Given the description of an element on the screen output the (x, y) to click on. 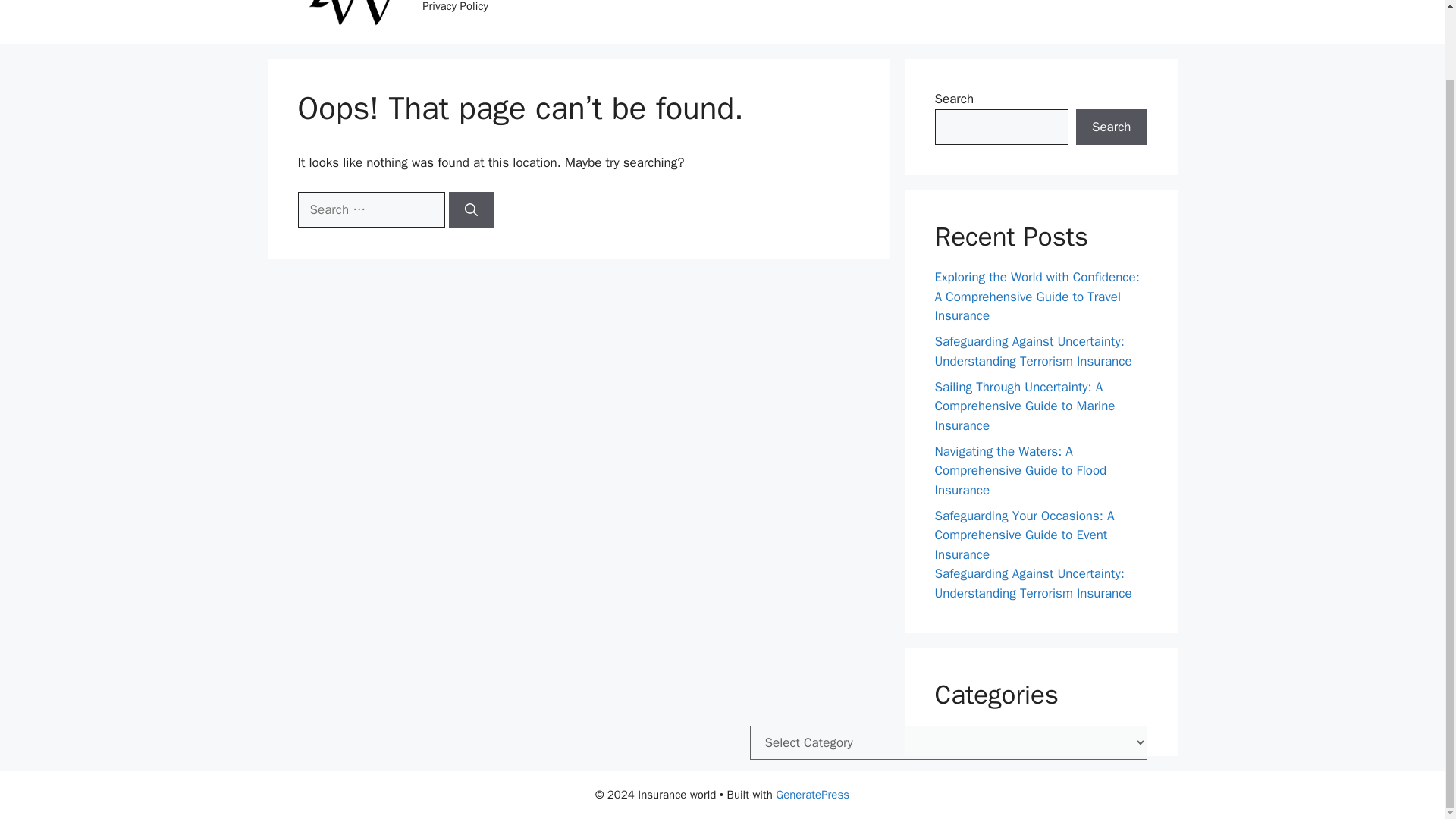
Privacy Policy (455, 14)
Search (1111, 126)
Search for: (370, 209)
